Given the description of an element on the screen output the (x, y) to click on. 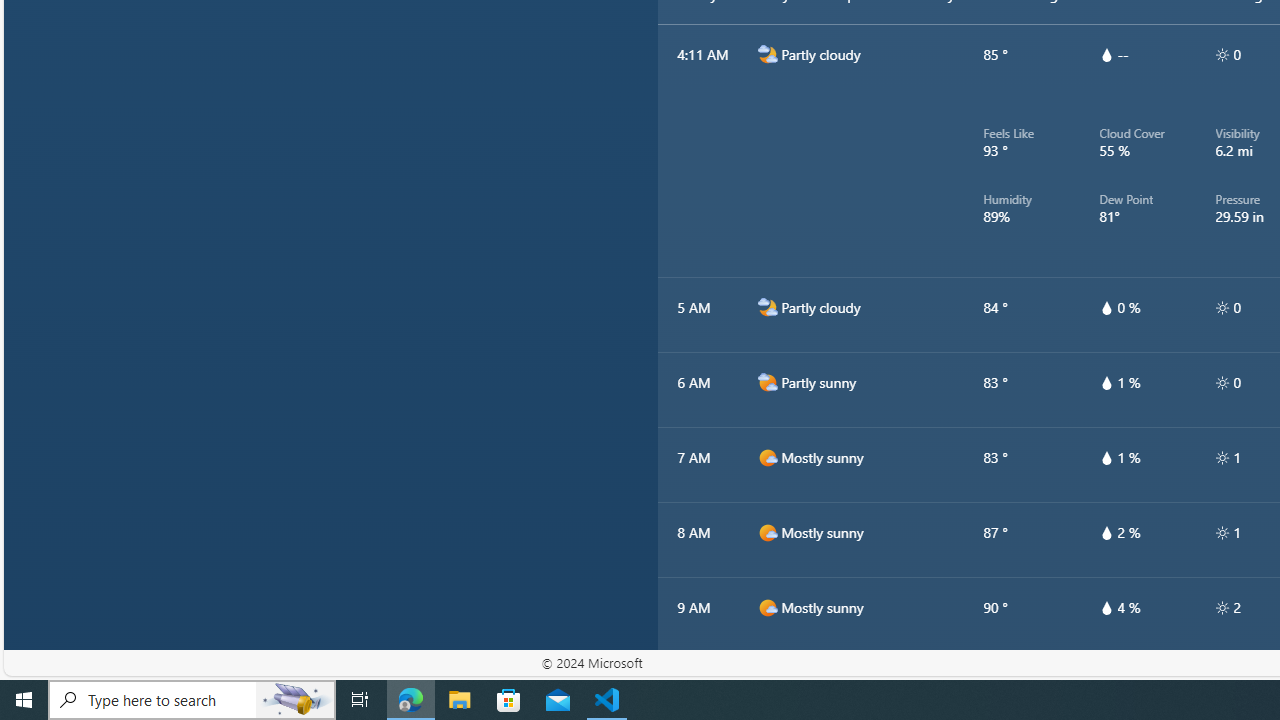
hourlyTable/drop (1106, 607)
Visual Studio Code - 1 running window (607, 699)
Microsoft Store (509, 699)
Search highlights icon opens search home window (295, 699)
hourlyTable/uv (1222, 607)
Type here to search (191, 699)
Microsoft Edge - 1 running window (411, 699)
Start (24, 699)
d1000 (767, 682)
File Explorer (460, 699)
Task View (359, 699)
d2000 (767, 382)
n2000 (767, 308)
